Given the description of an element on the screen output the (x, y) to click on. 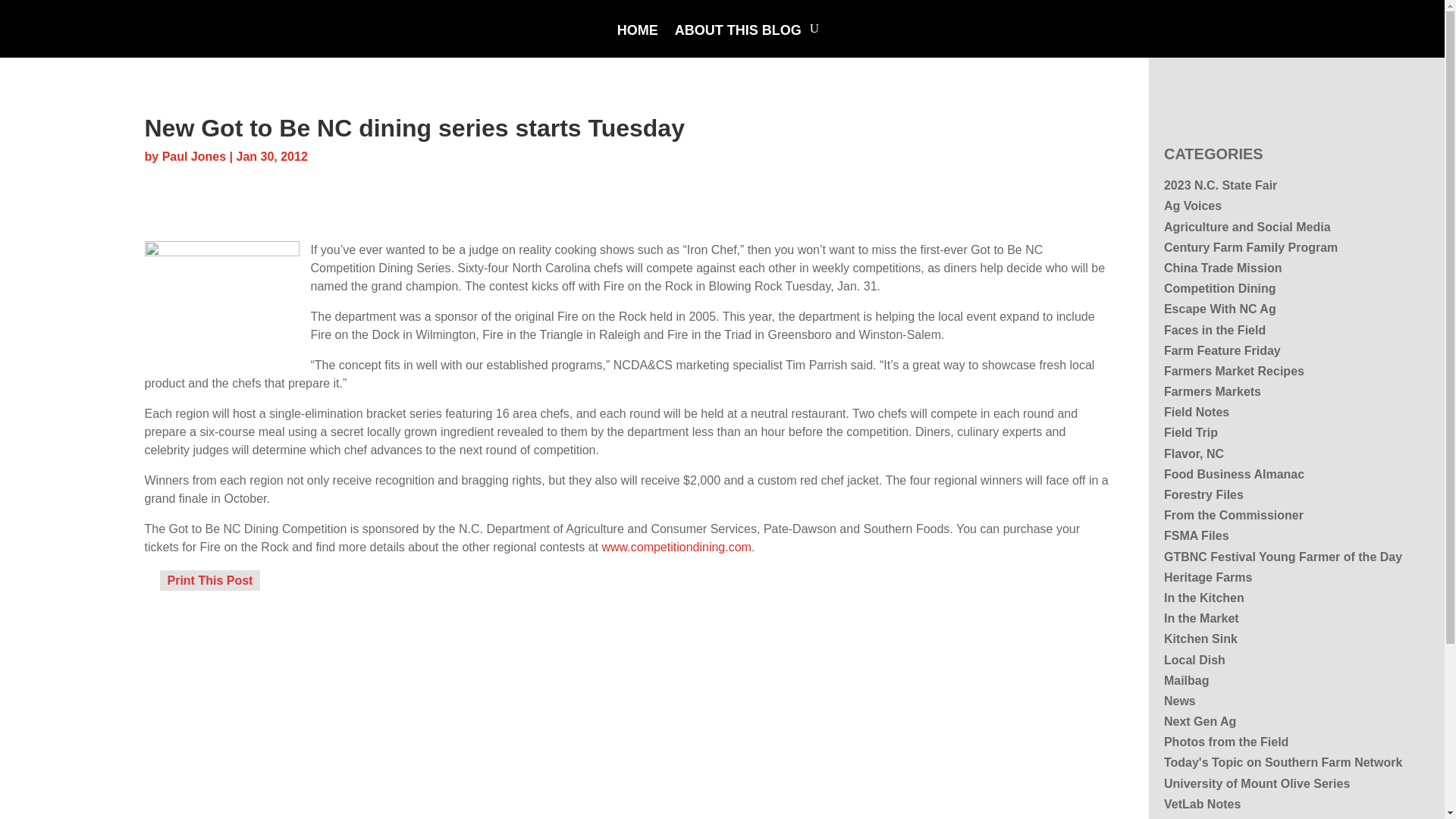
Ag Voices (1192, 205)
Print This Post (209, 579)
In the Market (1201, 617)
Farmers Markets (1211, 391)
Escape With NC Ag (1219, 308)
Food Business Almanac (1233, 473)
From the Commissioner (1233, 514)
www.competitiondining.com (676, 545)
GTBNC Festival Young Farmer of the Day (1282, 556)
FSMA Files (1195, 535)
Competition Dining (1219, 287)
Field Trip (1190, 431)
News (1179, 700)
In the Kitchen (1203, 597)
VetLab Notes (1201, 803)
